Given the description of an element on the screen output the (x, y) to click on. 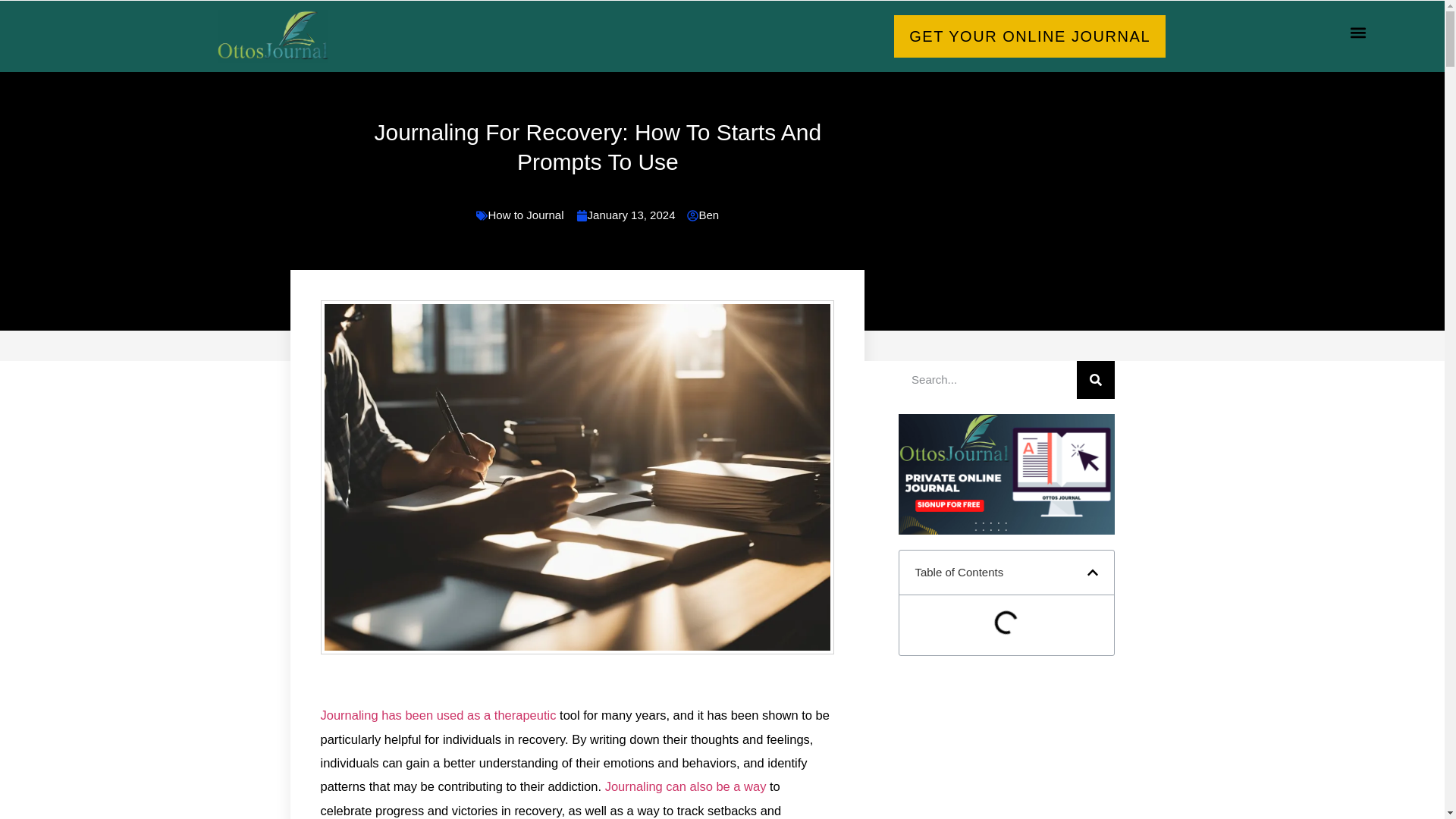
Journaling has been used as a therapeutic (438, 714)
How to Journal (525, 214)
GET YOUR ONLINE JOURNAL (1029, 36)
Journaling can also be a way (686, 786)
